Given the description of an element on the screen output the (x, y) to click on. 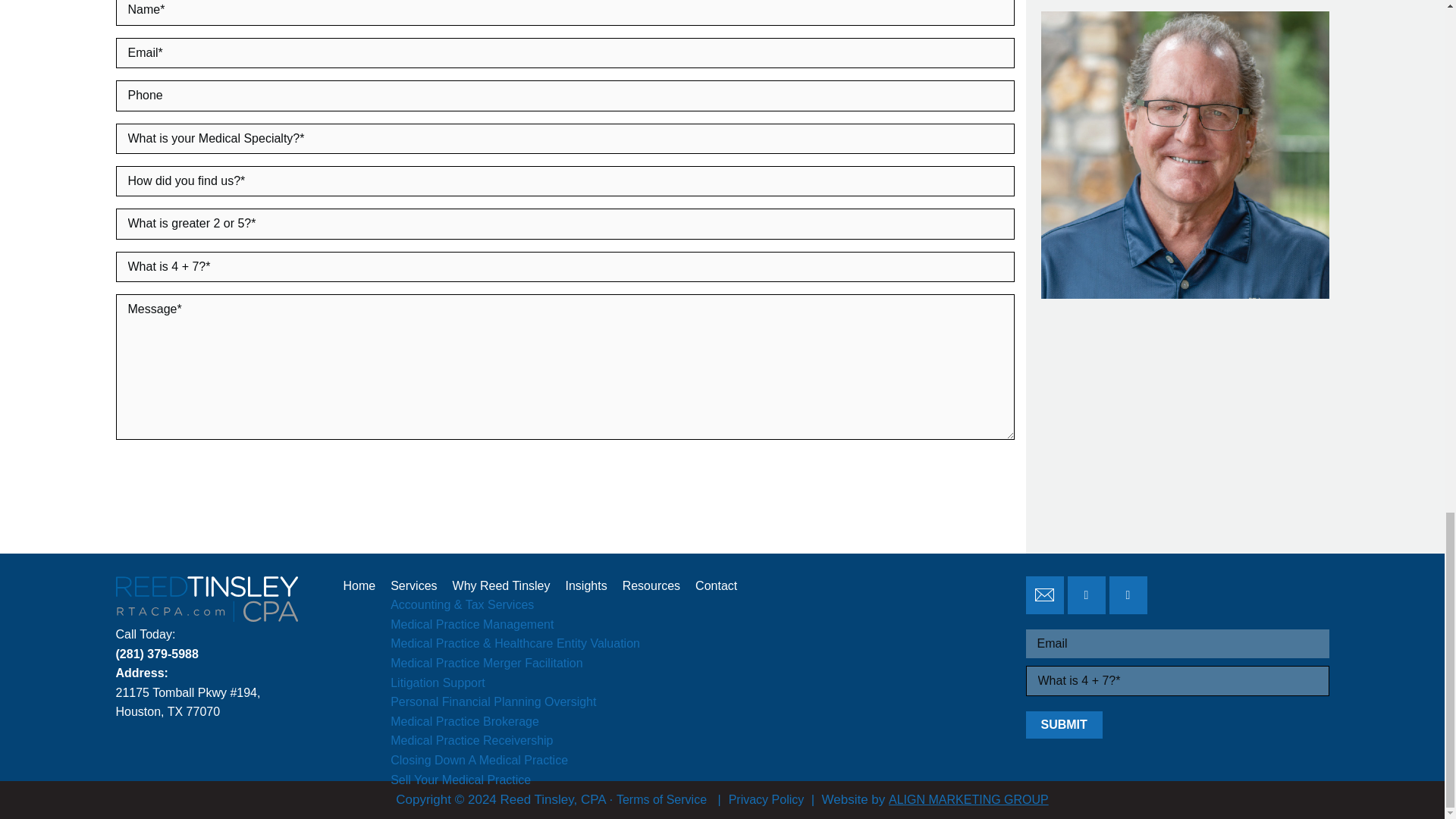
Submit (1063, 724)
